Given the description of an element on the screen output the (x, y) to click on. 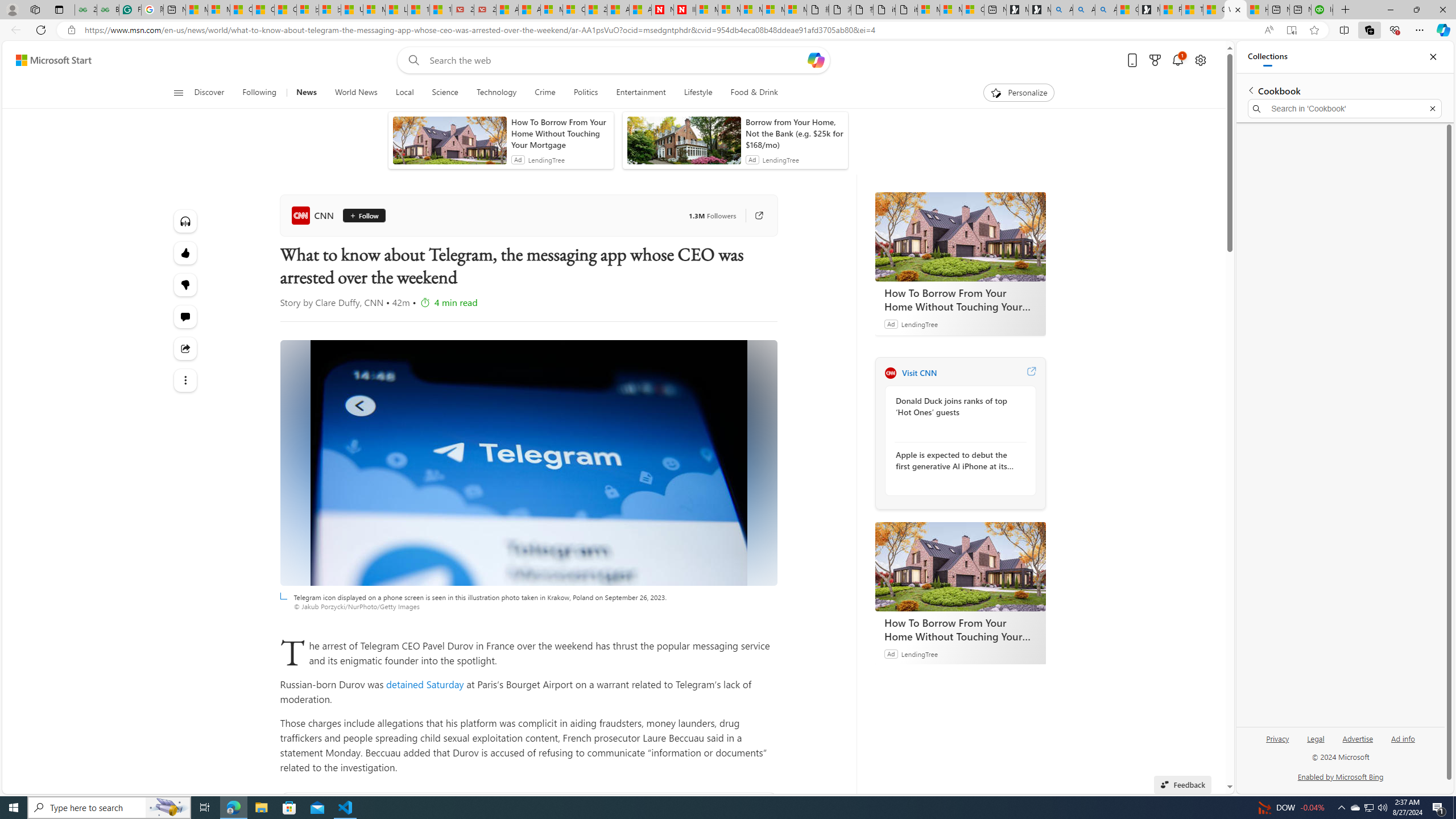
itconcepthk.com/projector_solutions.mp4 (907, 9)
Alabama high school quarterback dies - Search (1061, 9)
